Given the description of an element on the screen output the (x, y) to click on. 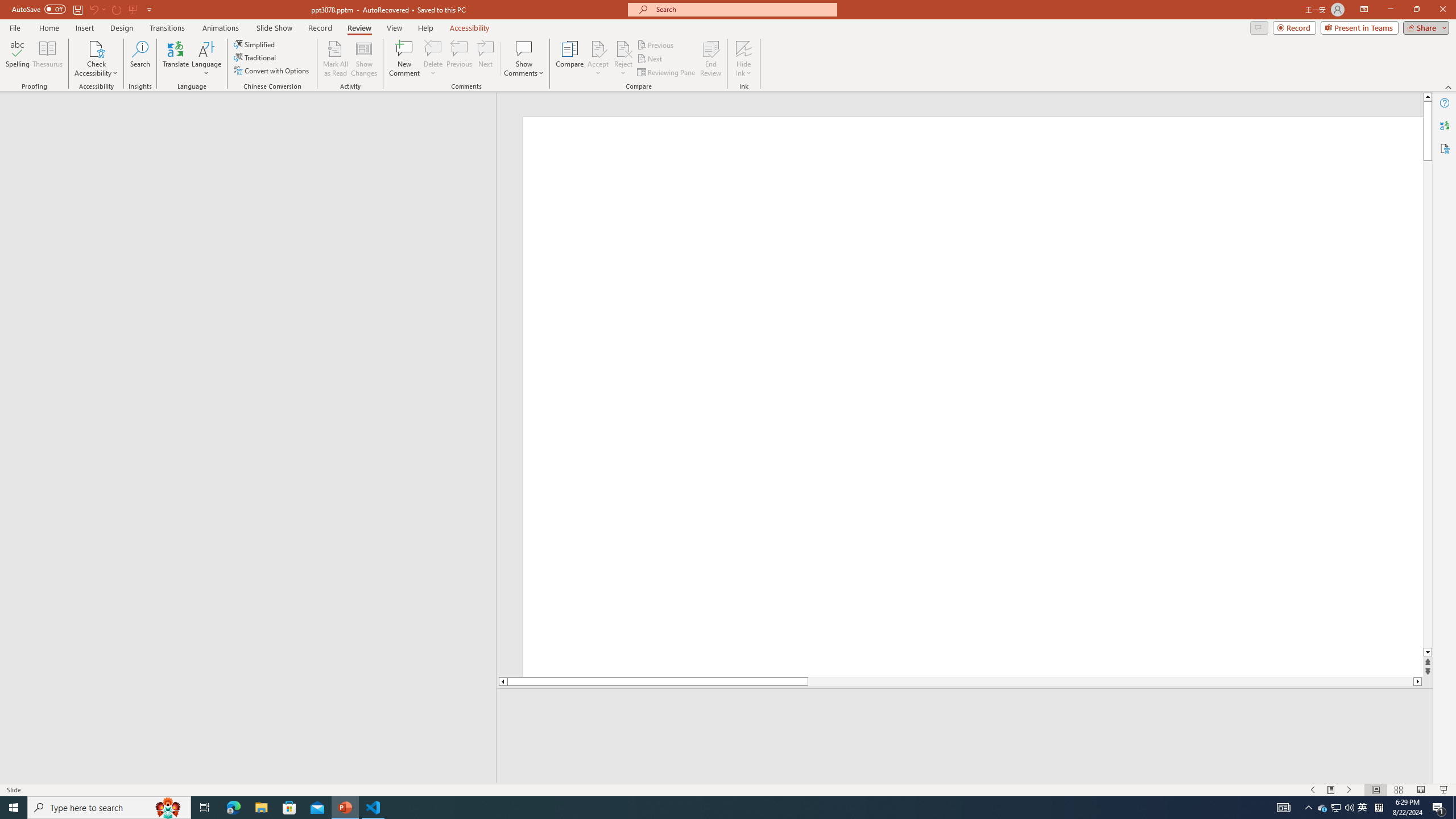
Reject Change (622, 48)
Slide Show Previous On (1313, 790)
Reject (622, 58)
Next (649, 58)
New Comment (403, 58)
